Given the description of an element on the screen output the (x, y) to click on. 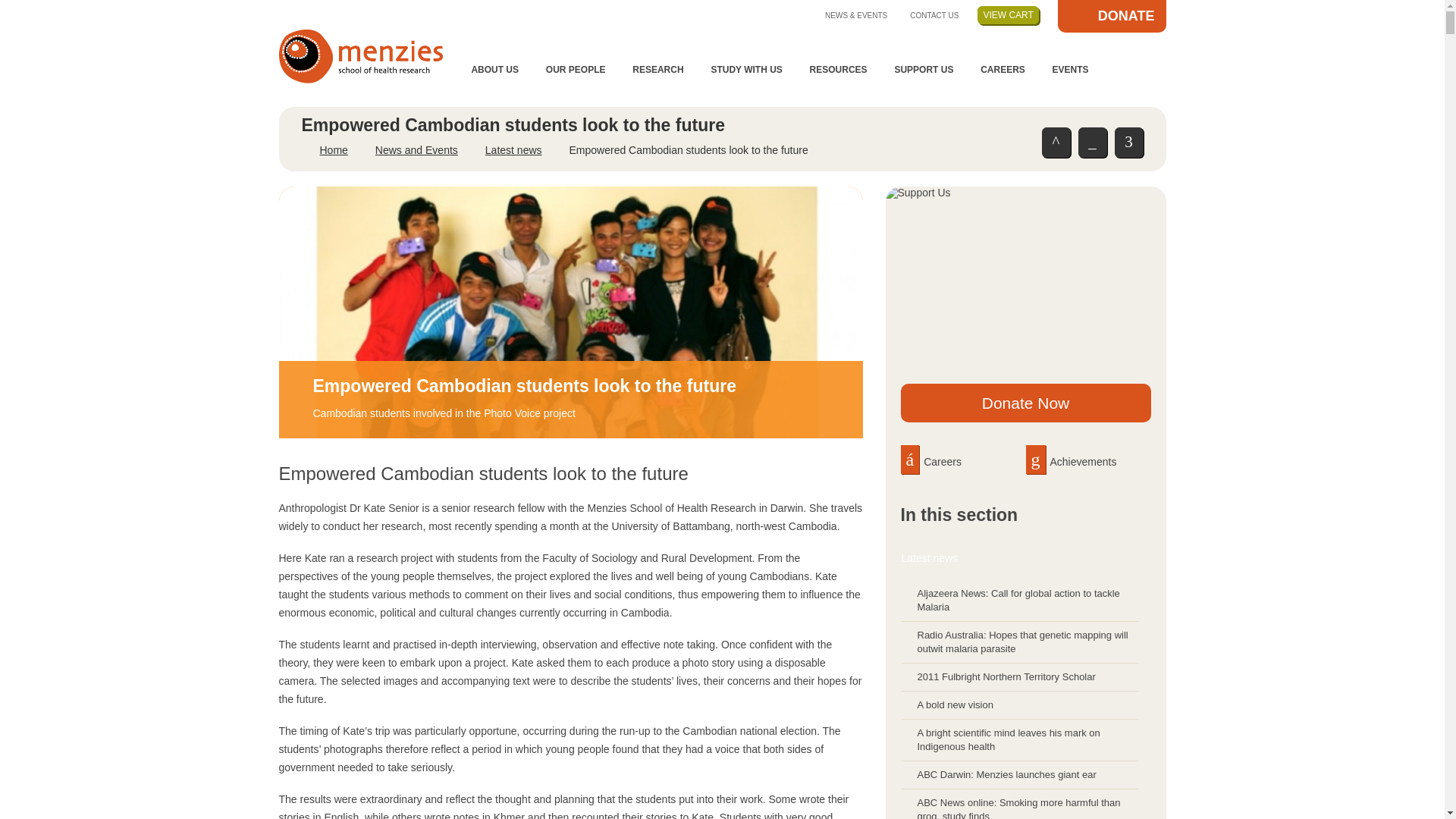
ABOUT US (494, 69)
SUPPORT US (923, 69)
VIEW CART (1007, 14)
CAREERS (1002, 69)
Our people (574, 69)
DONATE (1112, 16)
About us (494, 69)
RESEARCH (657, 69)
CONTACT US (933, 14)
OUR PEOPLE (574, 69)
